Given the description of an element on the screen output the (x, y) to click on. 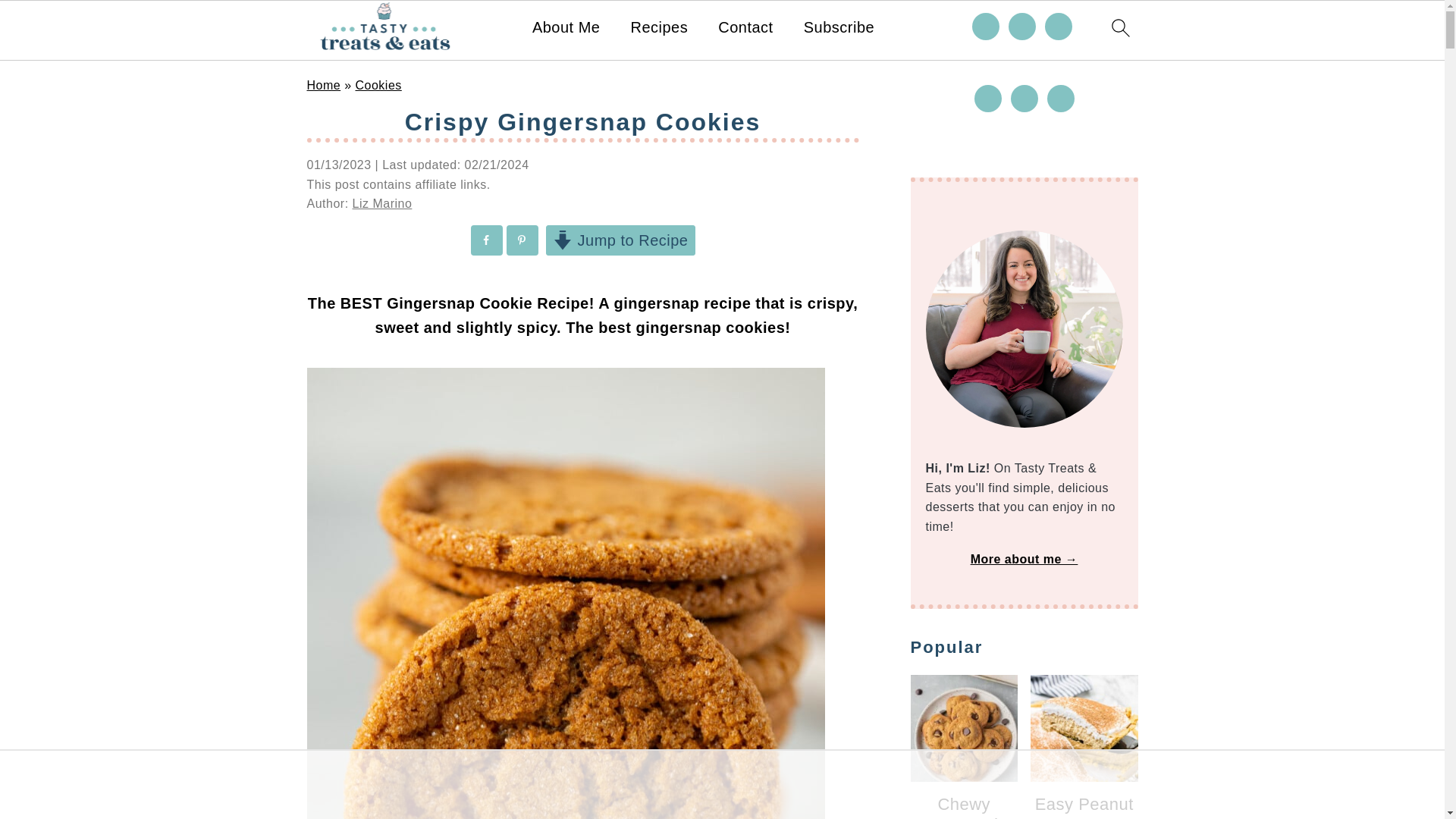
Contact (745, 27)
Share on Facebook (486, 240)
About Me (565, 27)
Cookies (378, 84)
Home (322, 84)
Subscribe (839, 27)
Liz Marino (382, 203)
Recipes (658, 27)
Save to Pinterest (523, 240)
